Given the description of an element on the screen output the (x, y) to click on. 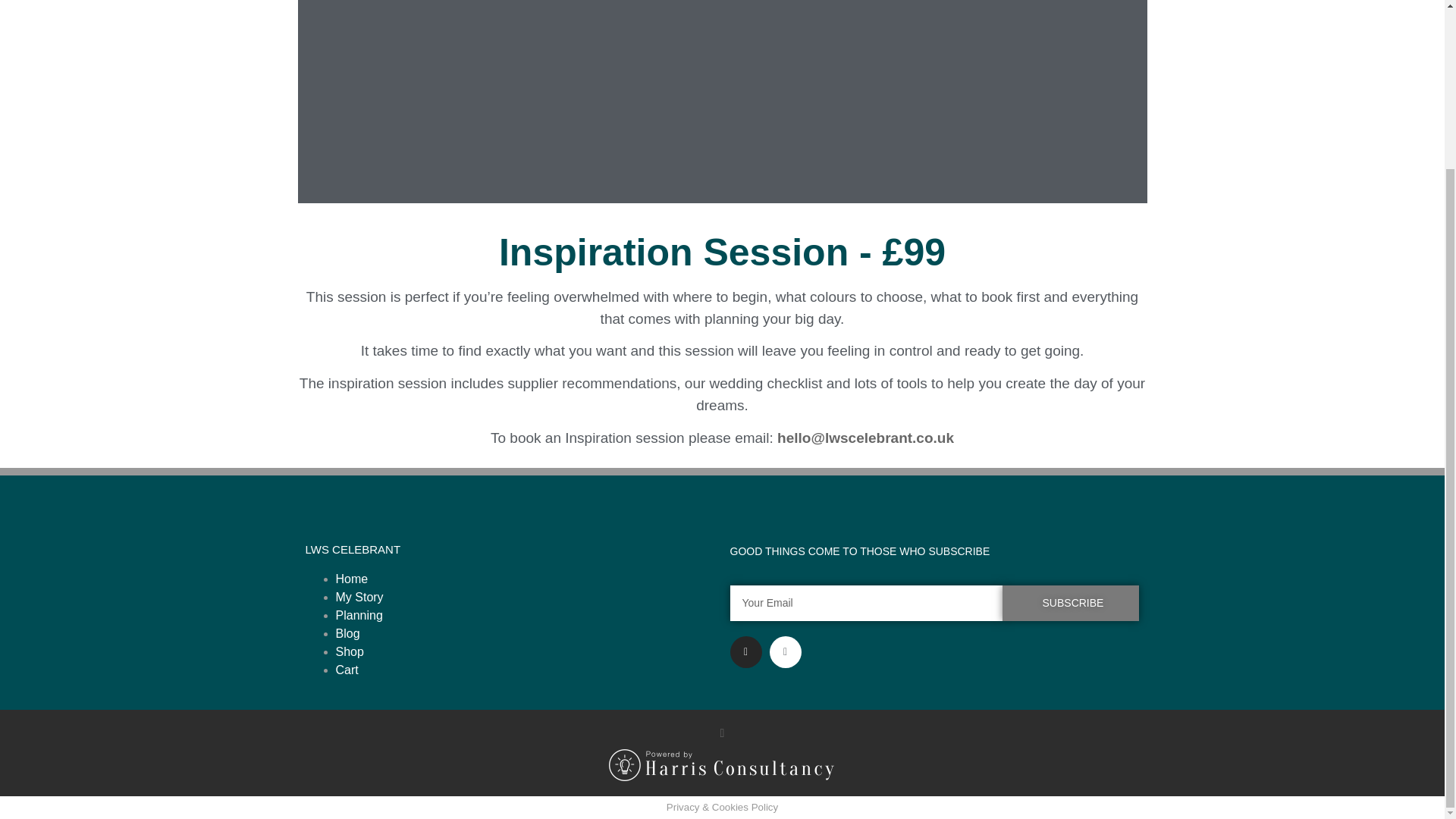
My Story (358, 596)
SUBSCRIBE (1070, 602)
Home (351, 578)
Planning (357, 615)
Blog (346, 633)
Cart (346, 669)
Shop (348, 651)
